Given the description of an element on the screen output the (x, y) to click on. 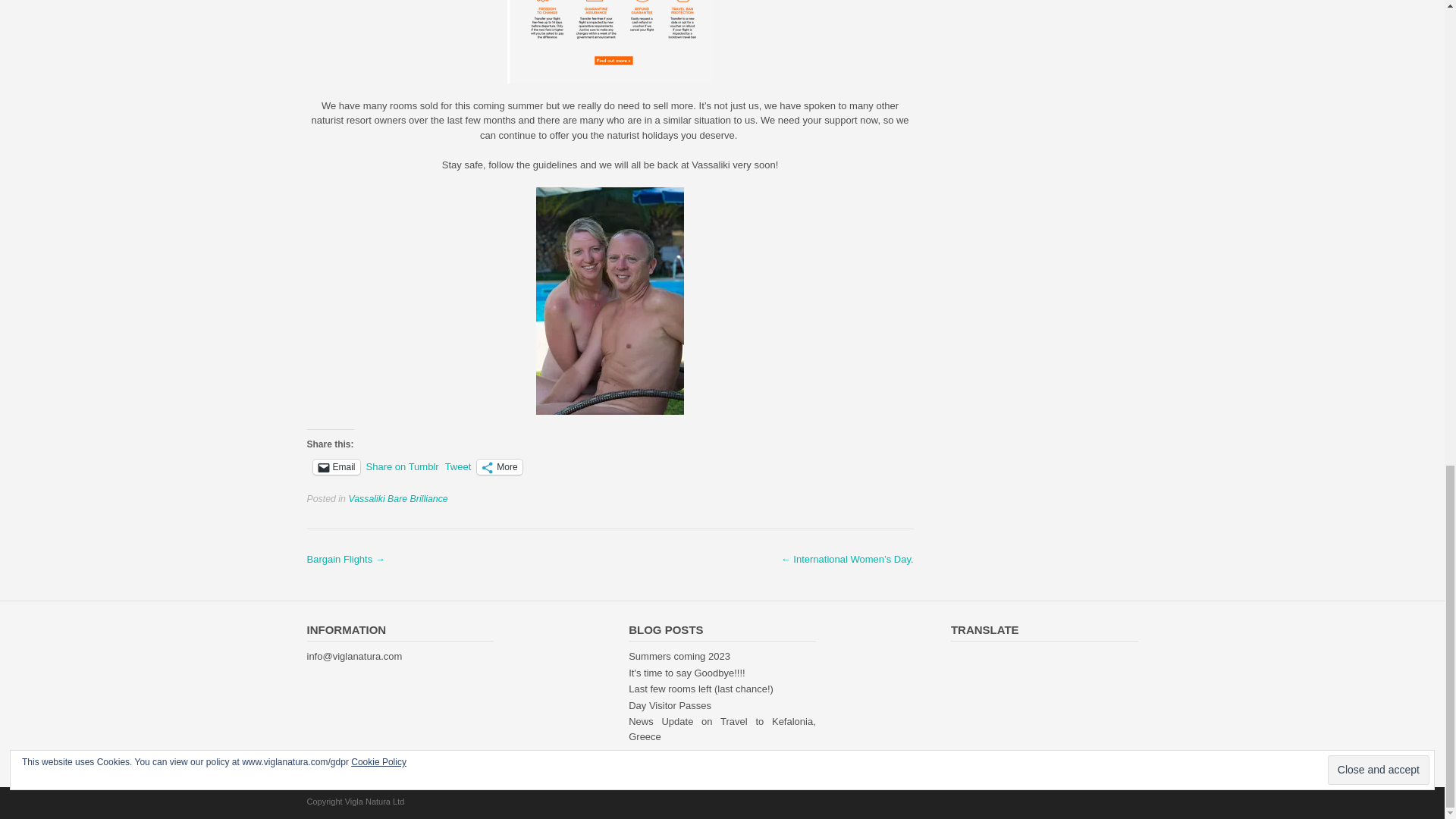
Vassaliki Bare Brilliance (396, 498)
Tweet (458, 466)
It's time to say Goodbye!!!! (686, 672)
Day Visitor Passes (669, 705)
Email (336, 467)
Share on Tumblr (402, 466)
More (499, 467)
Click to email a link to a friend (336, 467)
Summers coming 2023 (679, 655)
Share on Tumblr (402, 466)
